Given the description of an element on the screen output the (x, y) to click on. 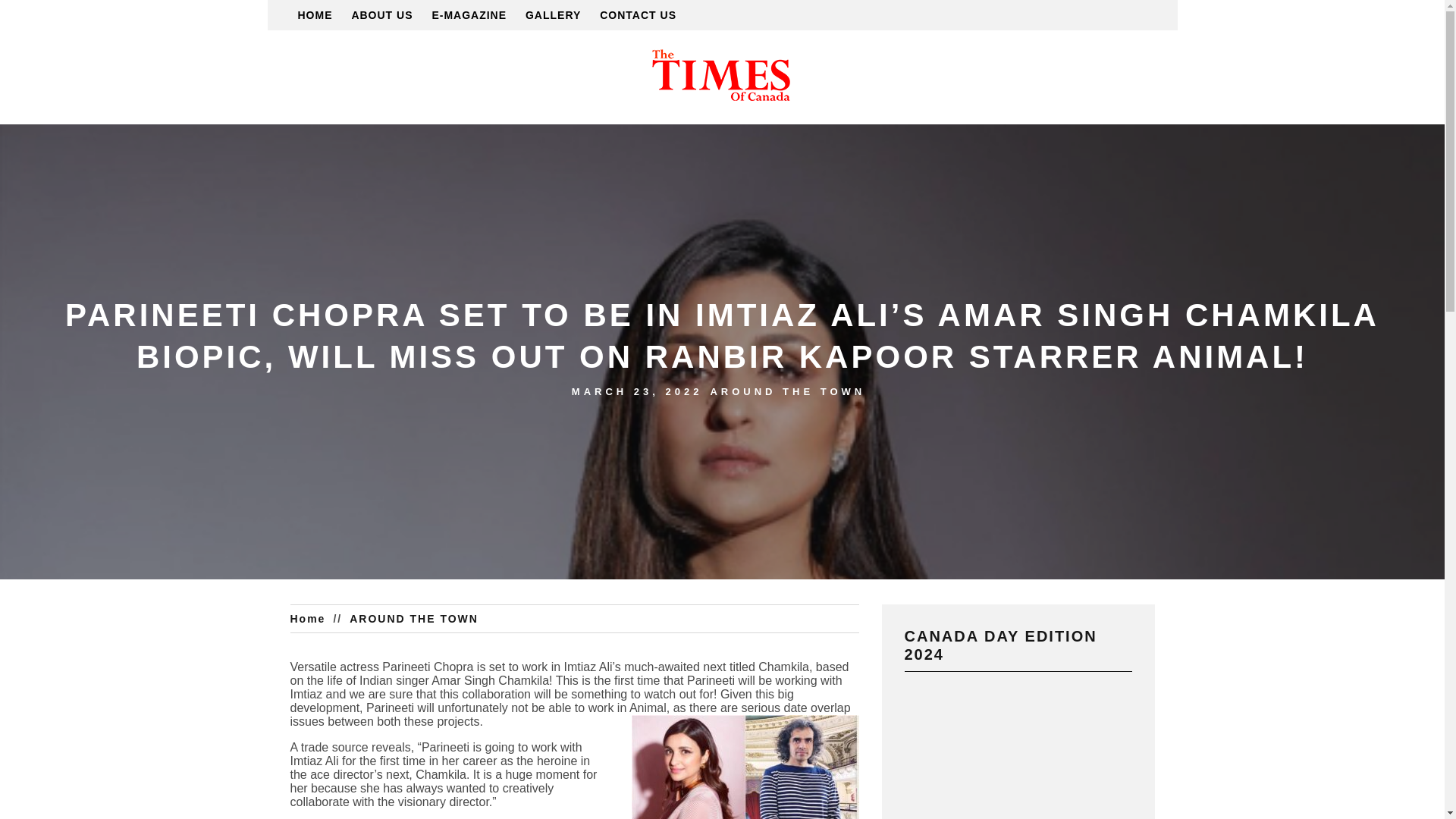
View all posts in AROUND THE TOWN (787, 391)
Home (311, 618)
HOME (314, 15)
ABOUT US (381, 15)
AROUND THE TOWN (787, 391)
View all posts in AROUND THE TOWN (417, 618)
CONTACT US (638, 15)
GALLERY (552, 15)
E-MAGAZINE (468, 15)
AROUND THE TOWN (417, 618)
